Given the description of an element on the screen output the (x, y) to click on. 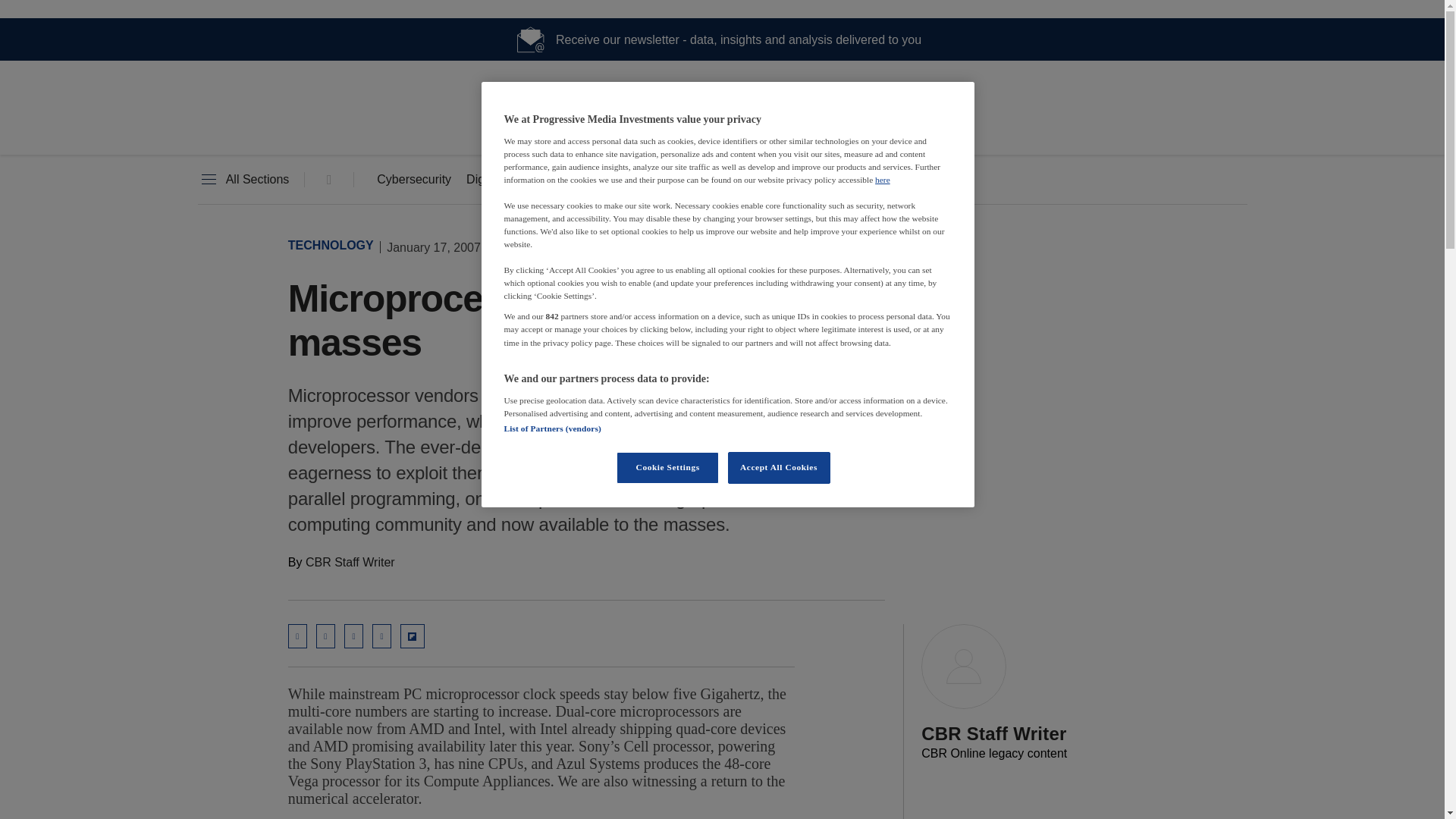
Share on LinkedIN (324, 636)
Share on Twitter (352, 636)
Leadership (701, 179)
Cybersecurity (414, 179)
Events (783, 179)
Tech Monitor (722, 128)
Digital economy (509, 179)
All Sections (242, 179)
Share on facebook (381, 636)
Share in an email (297, 636)
Share on Flipboard (412, 636)
Hardware (612, 179)
